Given the description of an element on the screen output the (x, y) to click on. 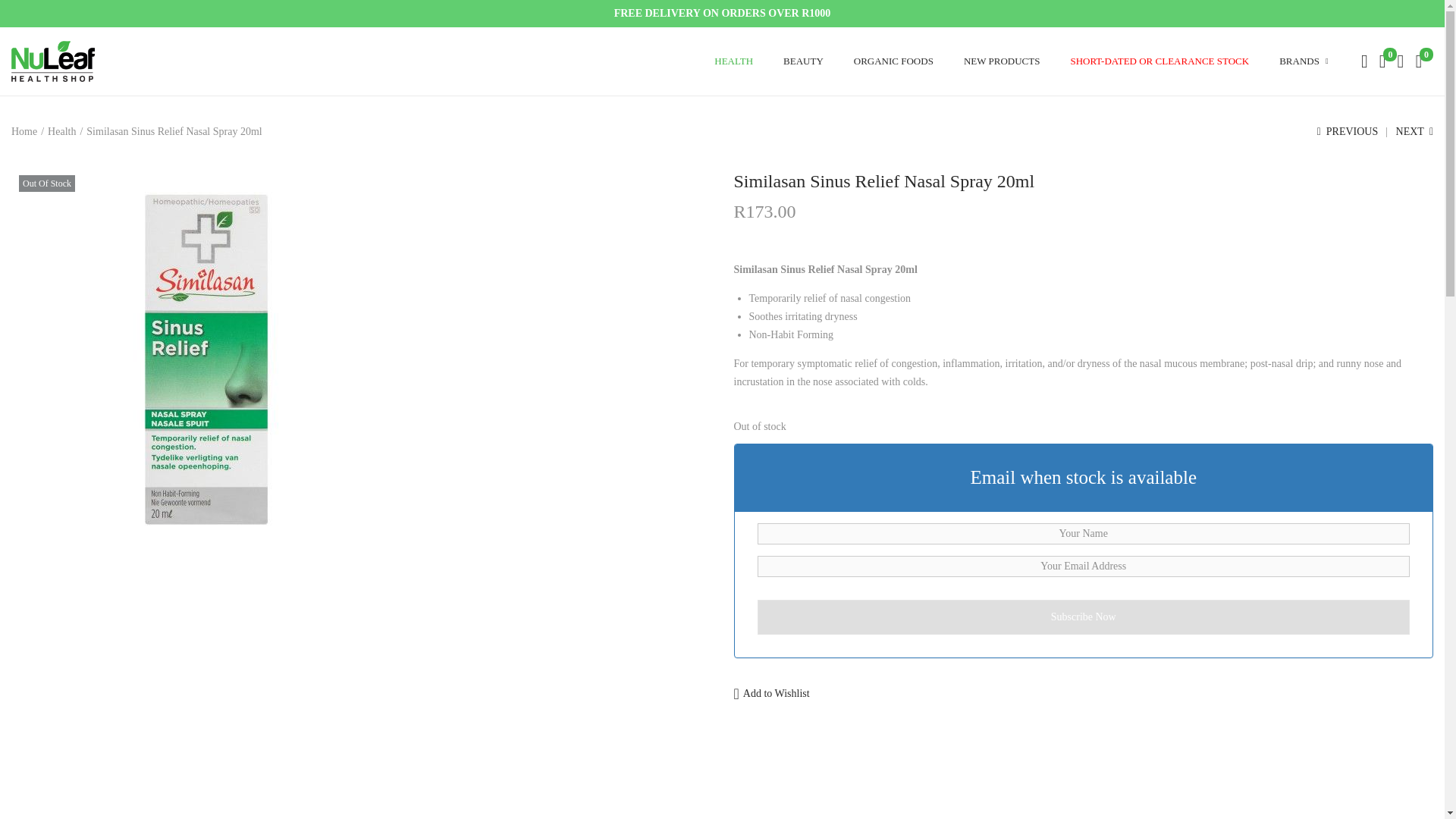
ORGANIC FOODS (893, 61)
SHORT-DATED OR CLEARANCE STOCK (1159, 61)
Subscribe Now (1083, 615)
NEW PRODUCTS (1002, 61)
